Given the description of an element on the screen output the (x, y) to click on. 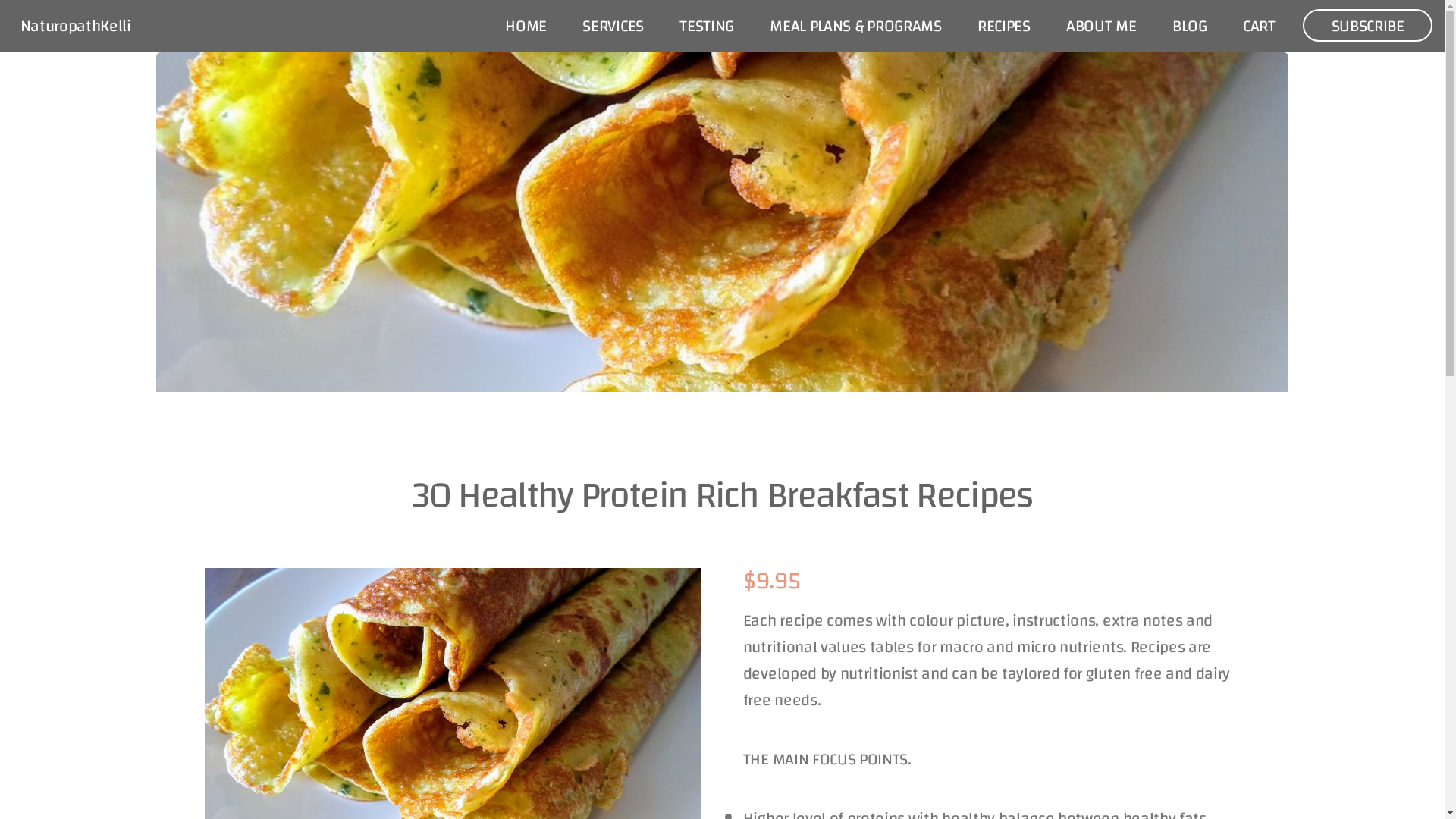
HOME Element type: text (525, 26)
SERVICES Element type: text (612, 26)
MEAL PLANS & PROGRAMS Element type: text (855, 26)
BLOG Element type: text (1189, 26)
NaturopathKelli Element type: text (75, 25)
SUBSCRIBE Element type: text (1367, 25)
ABOUT ME Element type: text (1101, 26)
RECIPES Element type: text (1003, 26)
CART Element type: text (1258, 26)
TESTING Element type: text (706, 26)
